Given the description of an element on the screen output the (x, y) to click on. 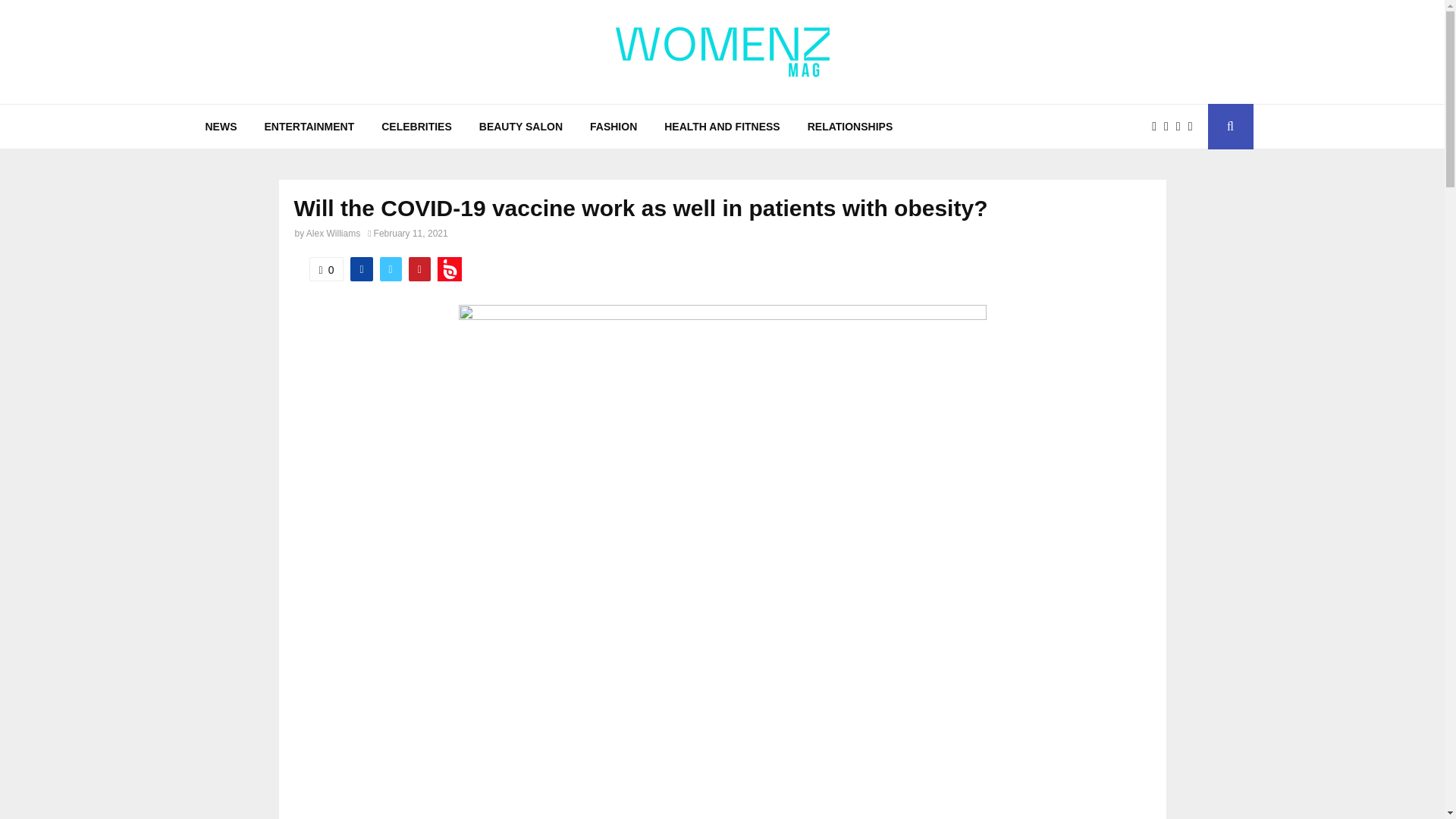
BEAUTY SALON (520, 126)
Like (325, 269)
Alex Williams (332, 233)
Advertisement (722, 753)
FASHION (613, 126)
ENTERTAINMENT (309, 126)
CELEBRITIES (416, 126)
NEWS (220, 126)
HEALTH AND FITNESS (721, 126)
RELATIONSHIPS (850, 126)
